Given the description of an element on the screen output the (x, y) to click on. 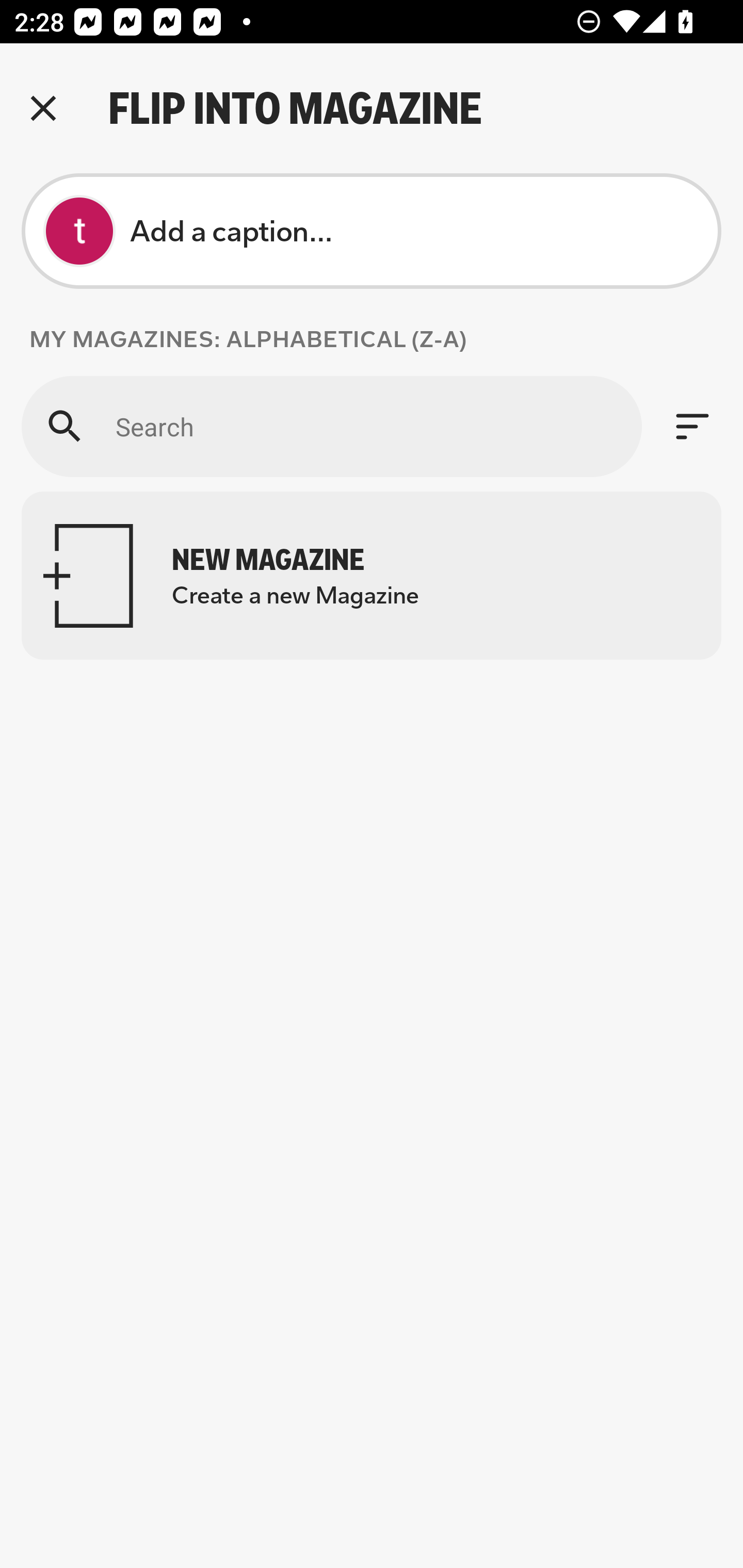
test appium Add a caption… (371, 231)
Search (331, 426)
NEW MAGAZINE Create a new Magazine (371, 575)
